Given the description of an element on the screen output the (x, y) to click on. 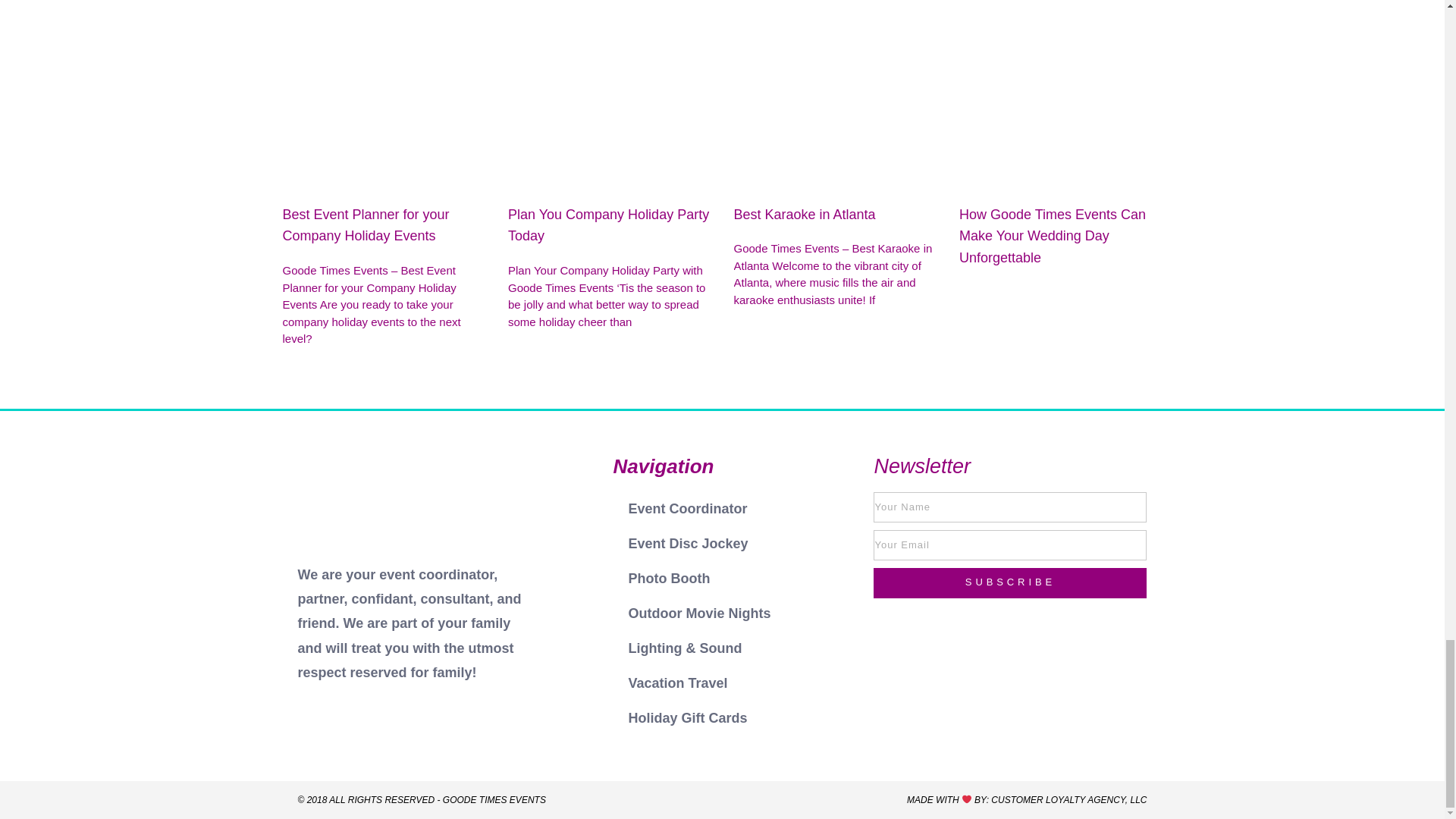
Best Event Planner for your Company Holiday Events (365, 224)
